Given the description of an element on the screen output the (x, y) to click on. 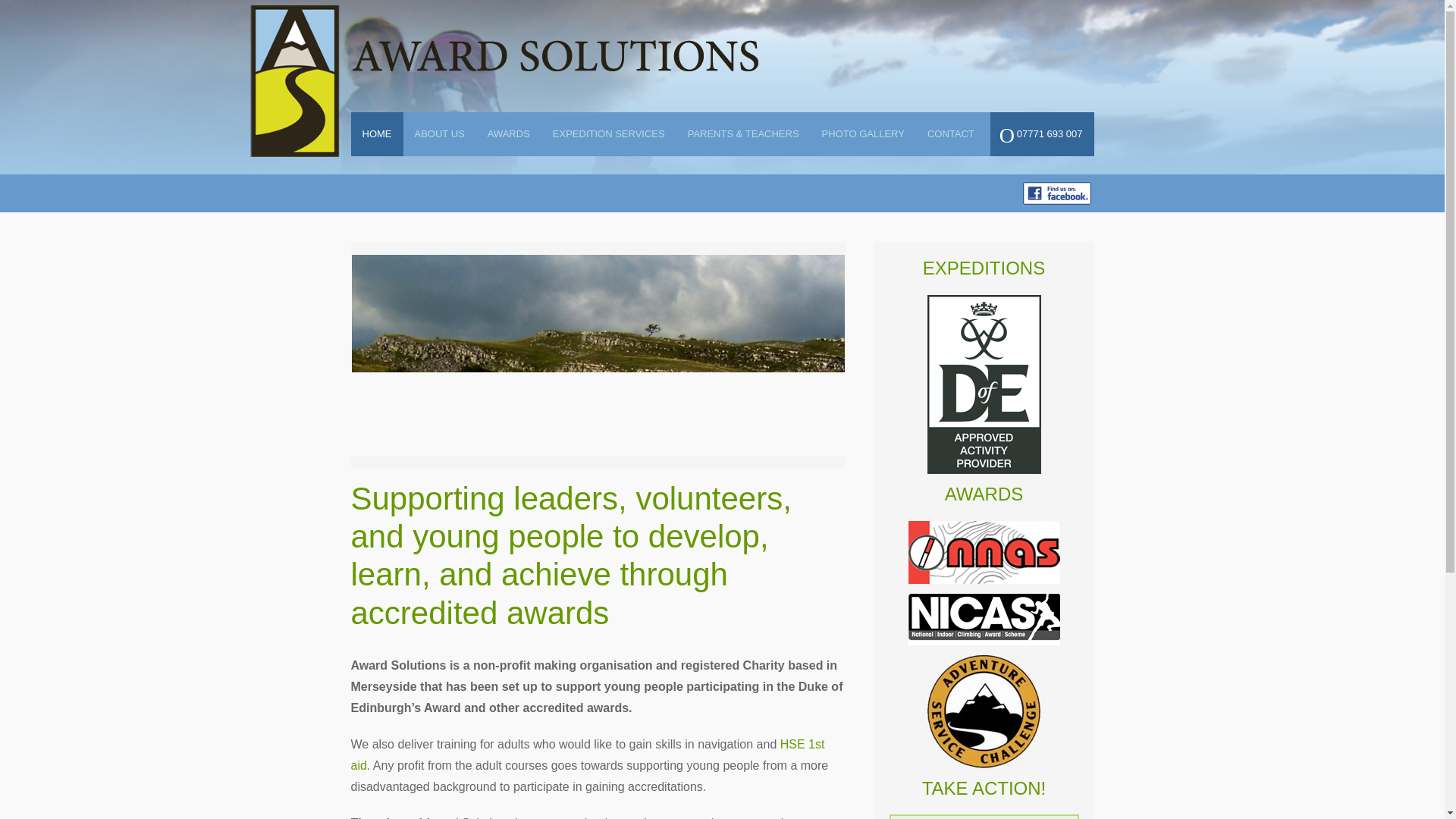
PHOTO GALLERY (862, 134)
ABOUT US (439, 134)
AWARDS (508, 134)
HOME (376, 134)
HSE 1st aid (587, 754)
EXPEDITION SERVICES (609, 134)
CONTACT (950, 134)
First Aid (587, 754)
